Given the description of an element on the screen output the (x, y) to click on. 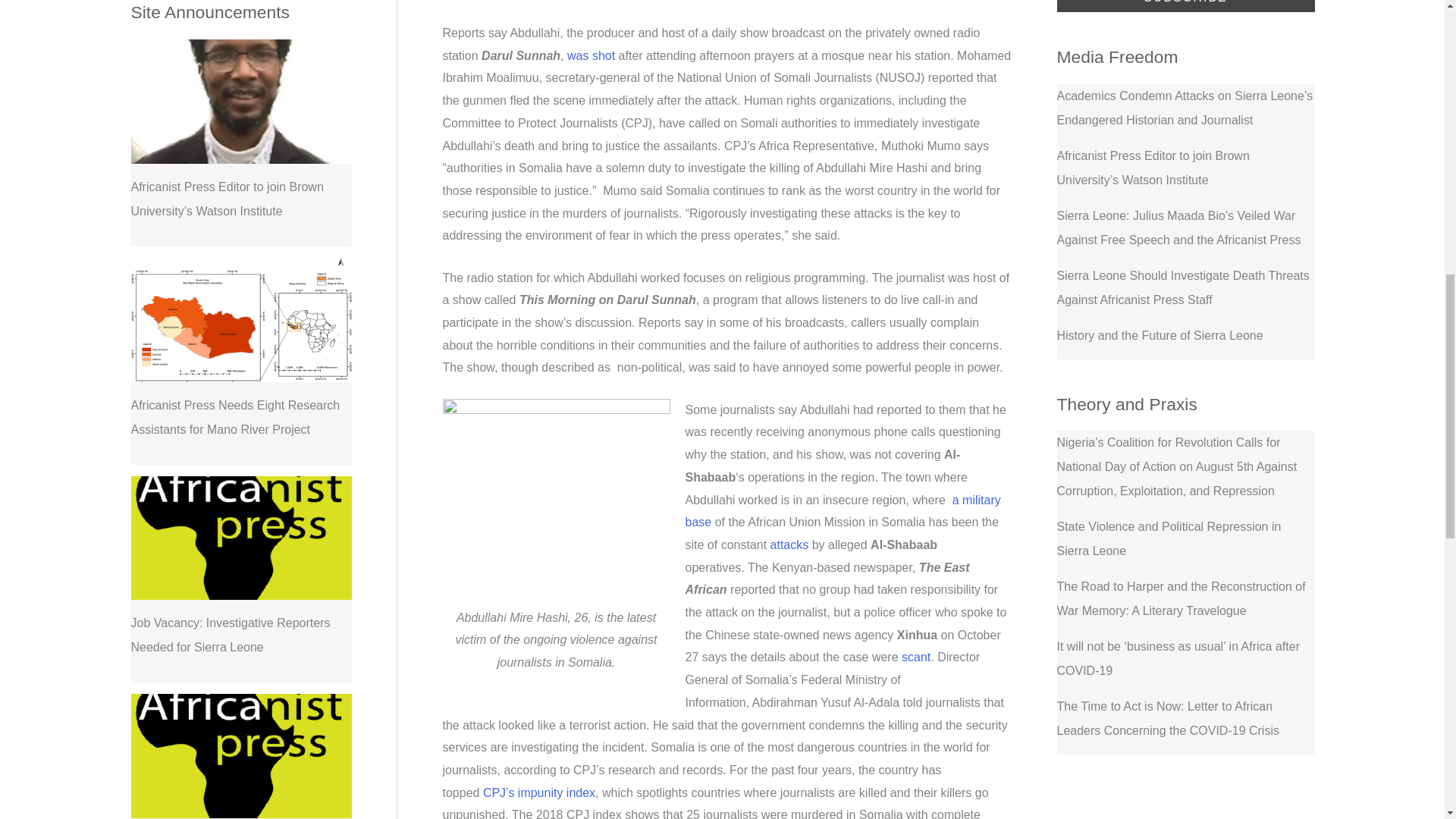
Subscribe (1185, 6)
